Given the description of an element on the screen output the (x, y) to click on. 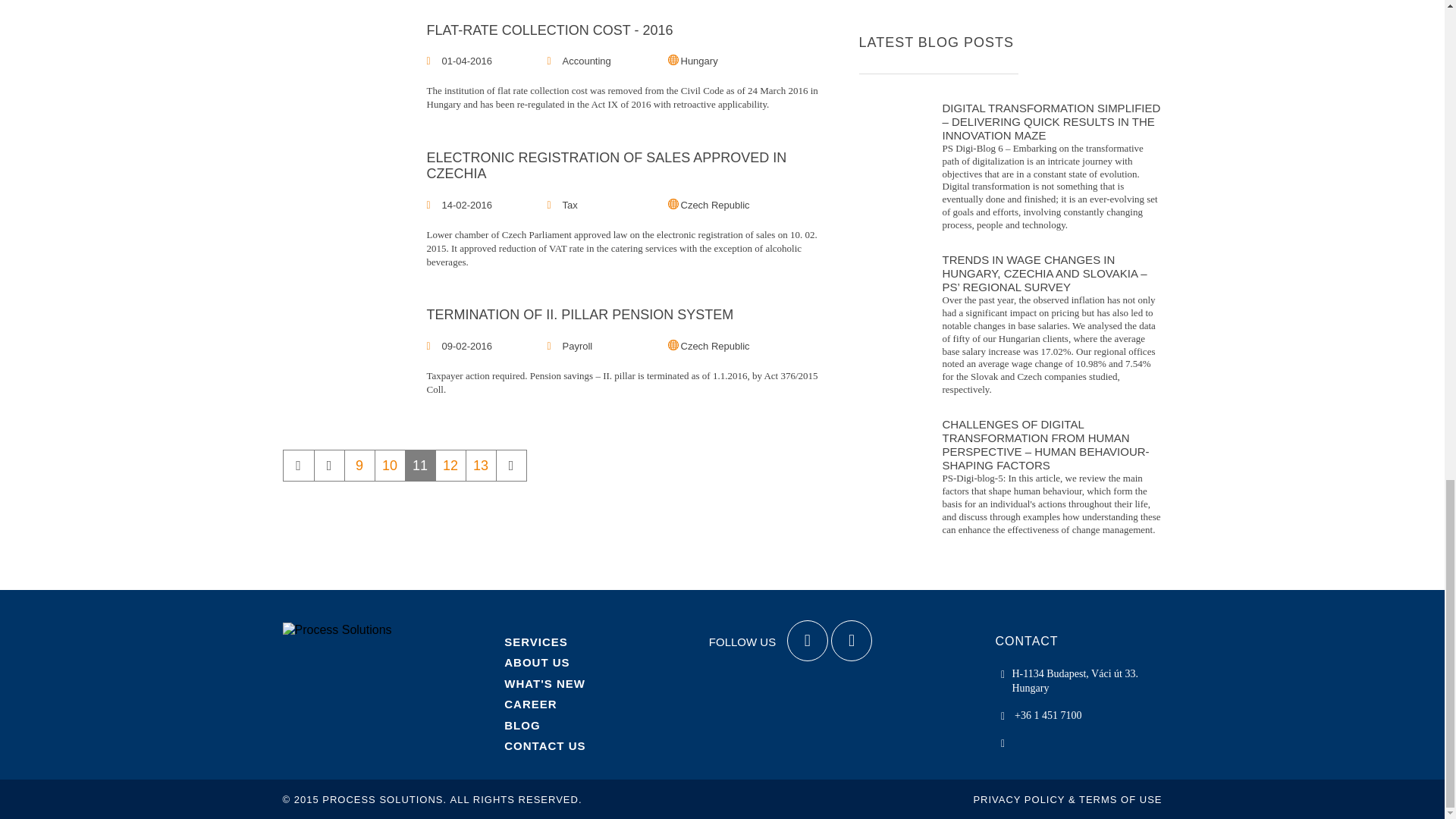
FLAT-RATE COLLECTION COST - 2016 (627, 30)
ELECTRONIC REGISTRATION OF SALES APPROVED IN CZECHIA (627, 165)
11 (419, 465)
12 (450, 465)
TERMINATION OF II. PILLAR PENSION SYSTEM (627, 315)
13 (480, 465)
10 (389, 465)
9 (358, 465)
